Given the description of an element on the screen output the (x, y) to click on. 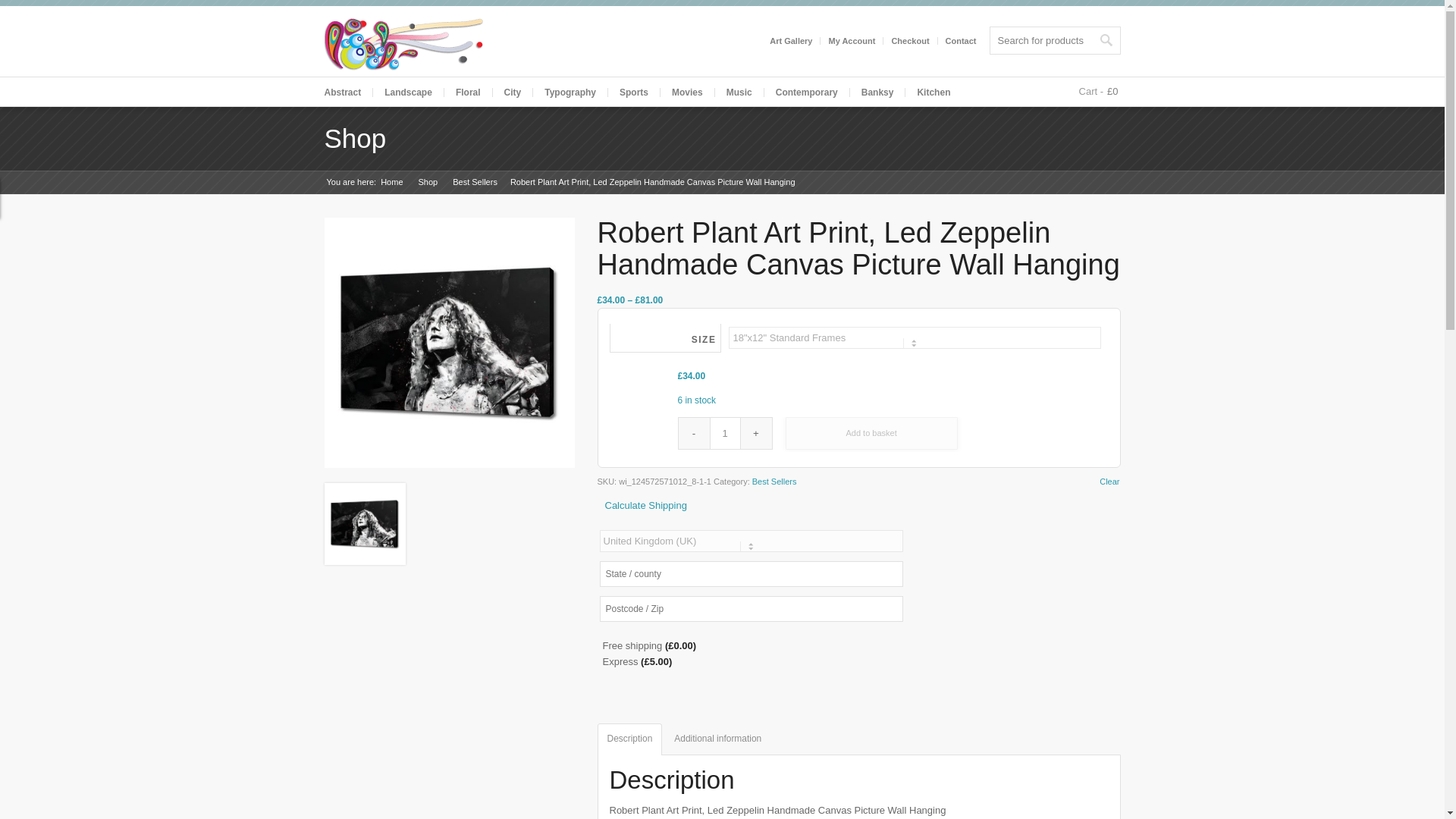
Landscape (408, 92)
Typography (569, 92)
Add to basket (872, 432)
Floral (468, 92)
Contact (960, 40)
Search for products (1053, 39)
Description (629, 738)
plan1t (449, 342)
My Account (851, 40)
Additional information (717, 738)
Shop (426, 182)
Music (738, 92)
Best Sellers (474, 182)
Cart - (1093, 91)
Clear (1109, 481)
